Given the description of an element on the screen output the (x, y) to click on. 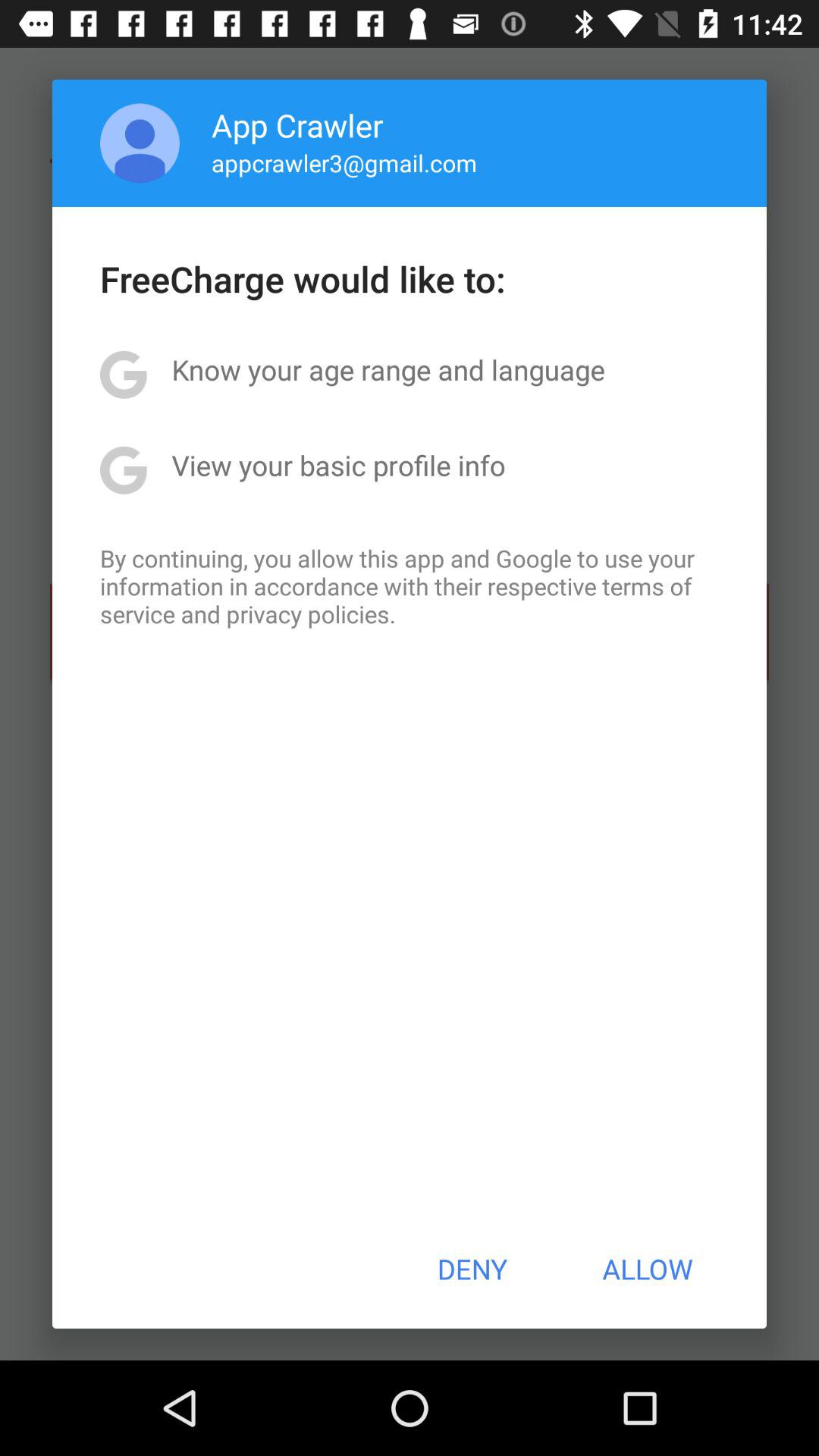
turn off icon above by continuing you app (338, 465)
